Given the description of an element on the screen output the (x, y) to click on. 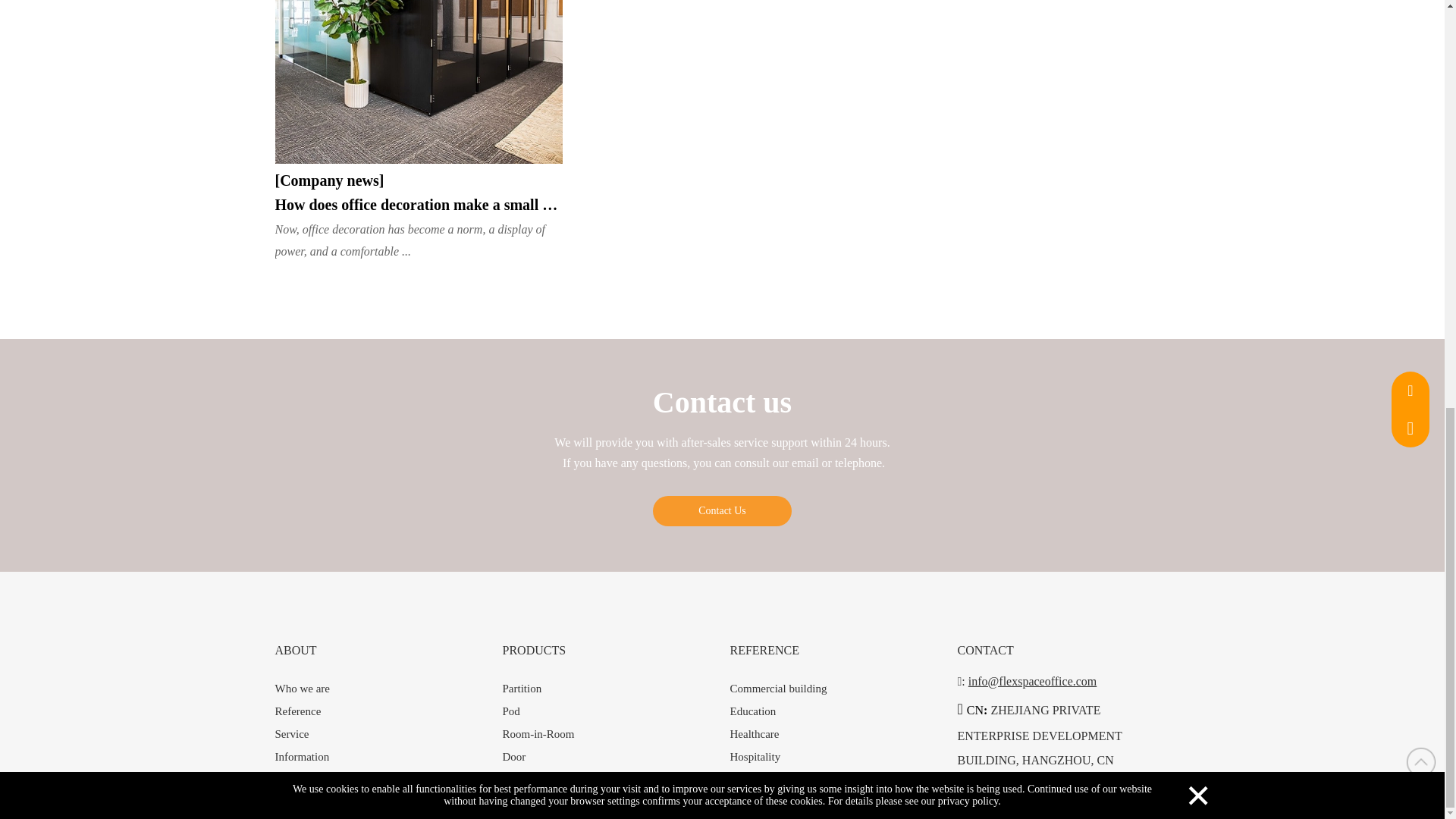
Education (752, 711)
Room-in-Room (537, 734)
Who we are (302, 688)
Partition (521, 688)
Service (291, 734)
Information (302, 756)
Pod (510, 711)
Door (513, 756)
Company news (329, 180)
